Given the description of an element on the screen output the (x, y) to click on. 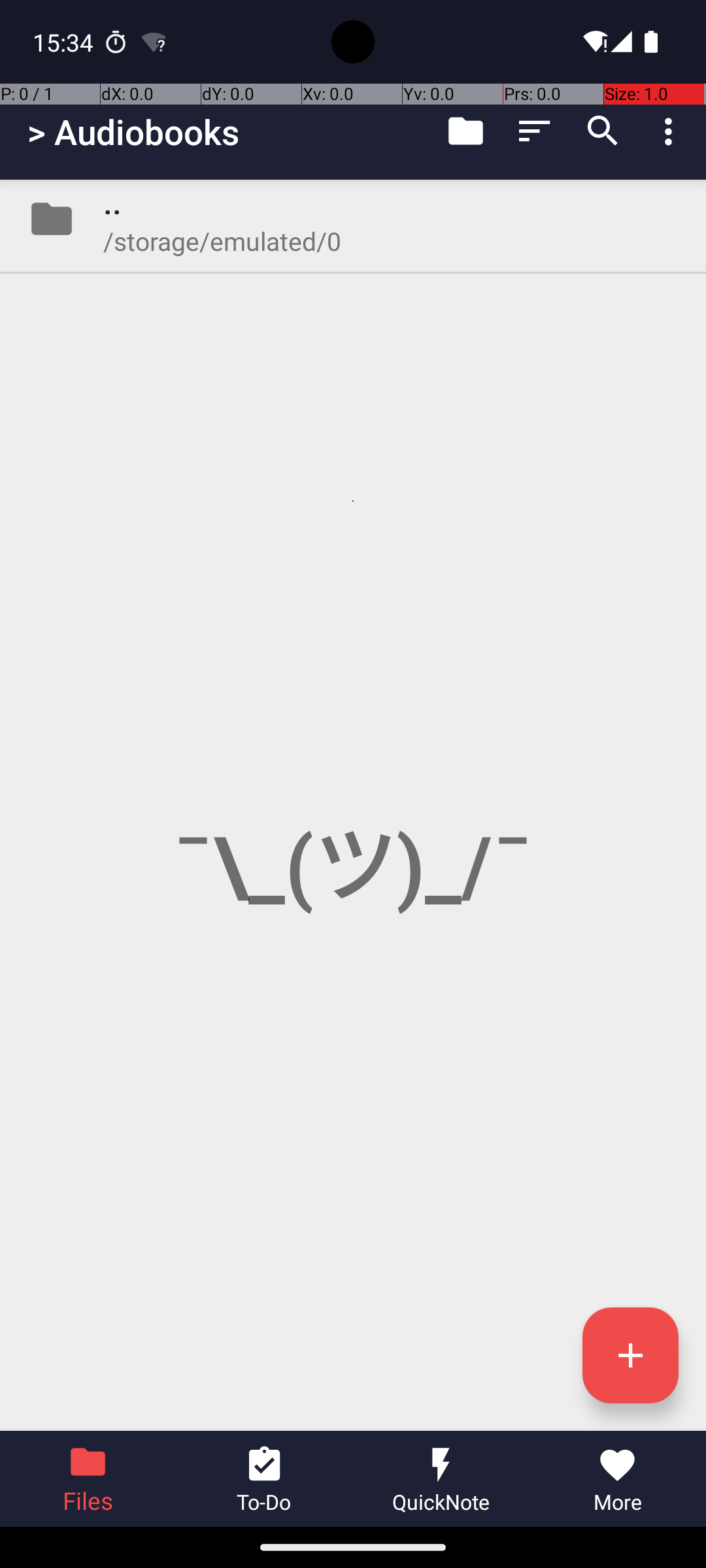
> Audiobooks Element type: android.widget.TextView (133, 131)
Folder .. 10/15/2023, 15:34 Element type: android.widget.LinearLayout (353, 218)
